Given the description of an element on the screen output the (x, y) to click on. 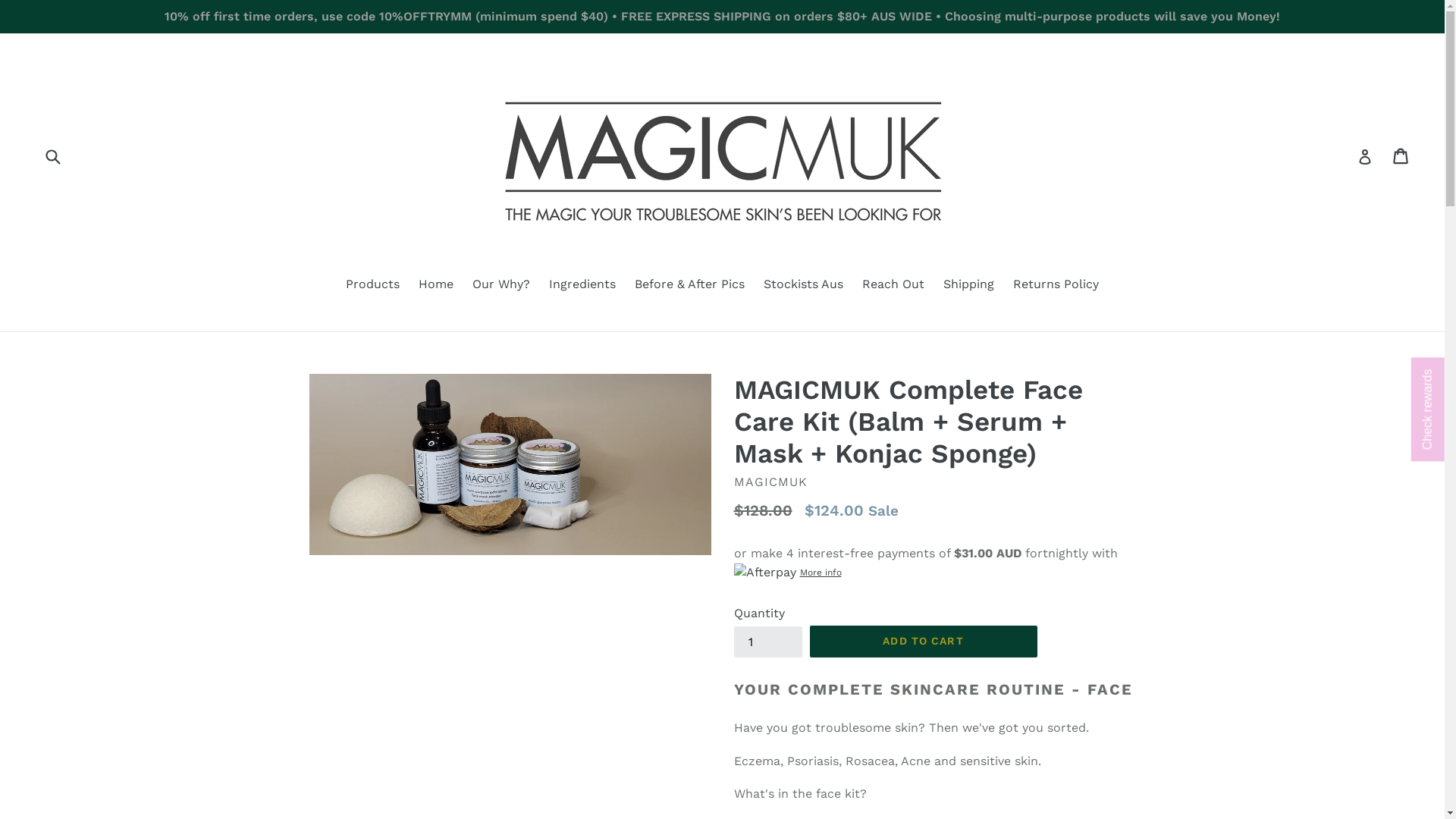
More info Element type: text (787, 571)
Products Element type: text (372, 285)
Our Why? Element type: text (500, 285)
ADD TO CART Element type: text (923, 641)
Cart
Cart Element type: text (1401, 155)
Stockists Aus Element type: text (803, 285)
Returns Policy Element type: text (1055, 285)
Before & After Pics Element type: text (689, 285)
Ingredients Element type: text (582, 285)
Shipping Element type: text (968, 285)
Submit Element type: text (51, 155)
Log in Element type: text (1364, 156)
Reach Out Element type: text (892, 285)
Home Element type: text (436, 285)
